Given the description of an element on the screen output the (x, y) to click on. 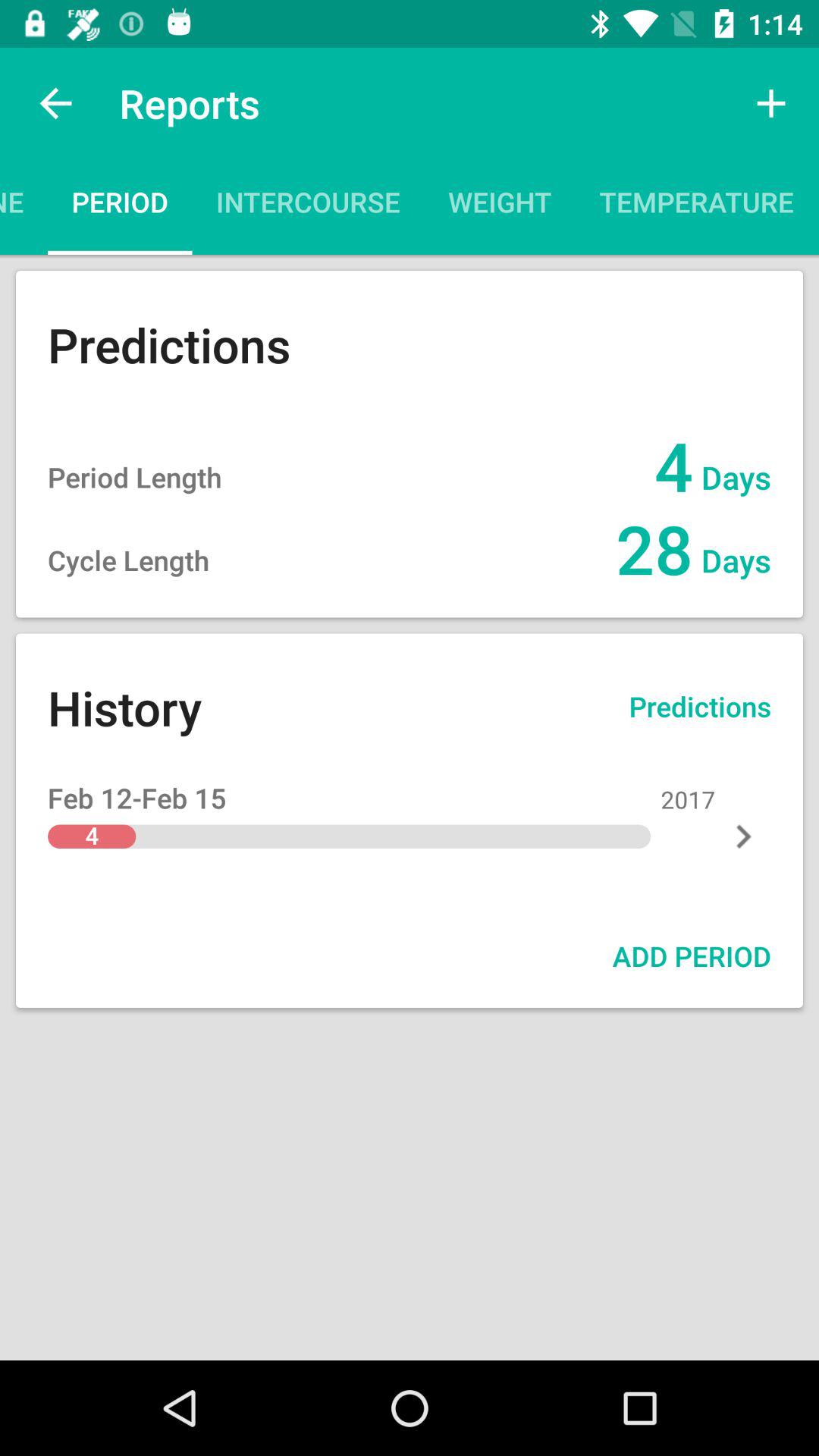
open item next to the temperature icon (499, 206)
